Given the description of an element on the screen output the (x, y) to click on. 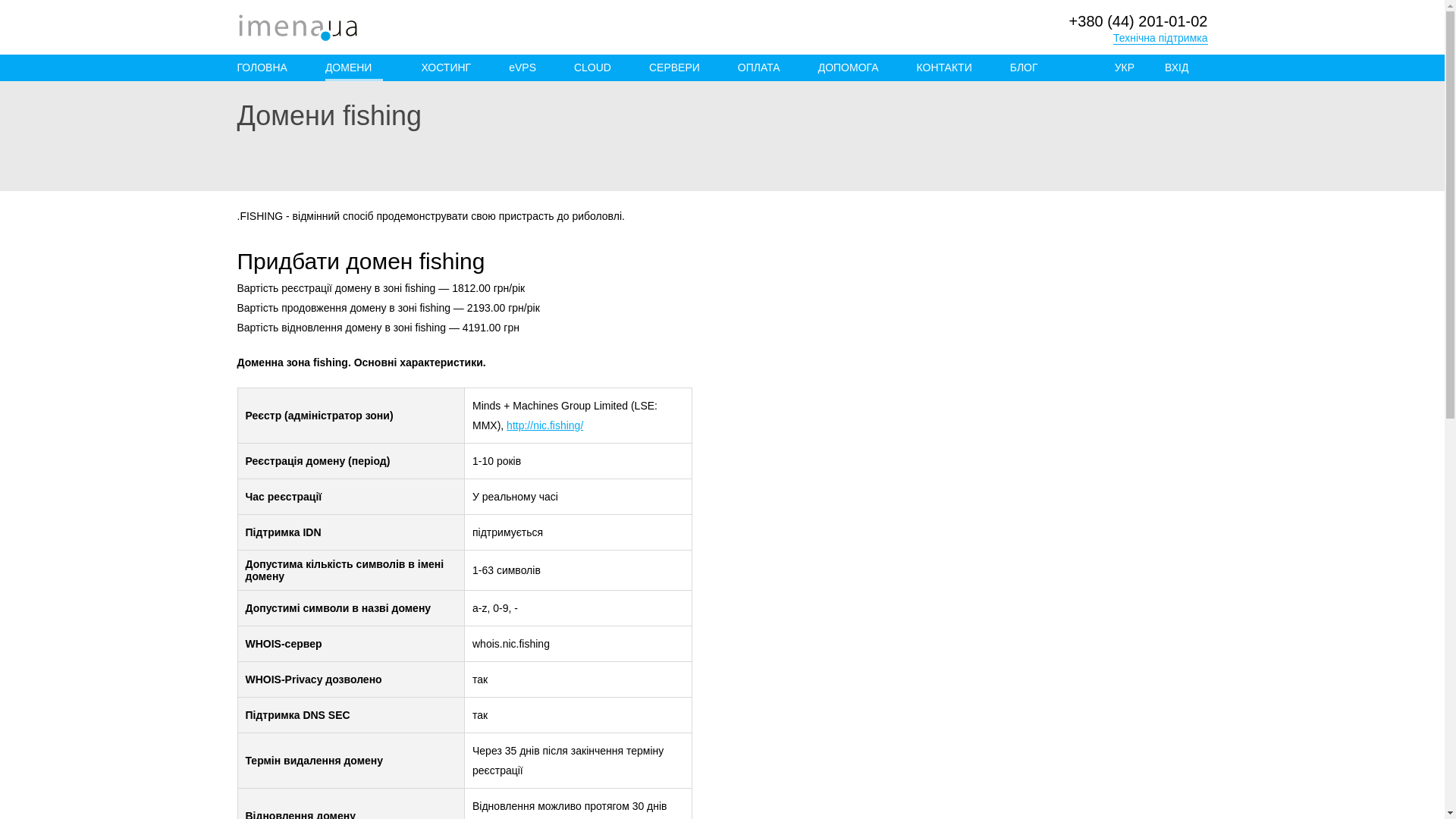
eVPS (521, 67)
CLOUD (592, 67)
